Given the description of an element on the screen output the (x, y) to click on. 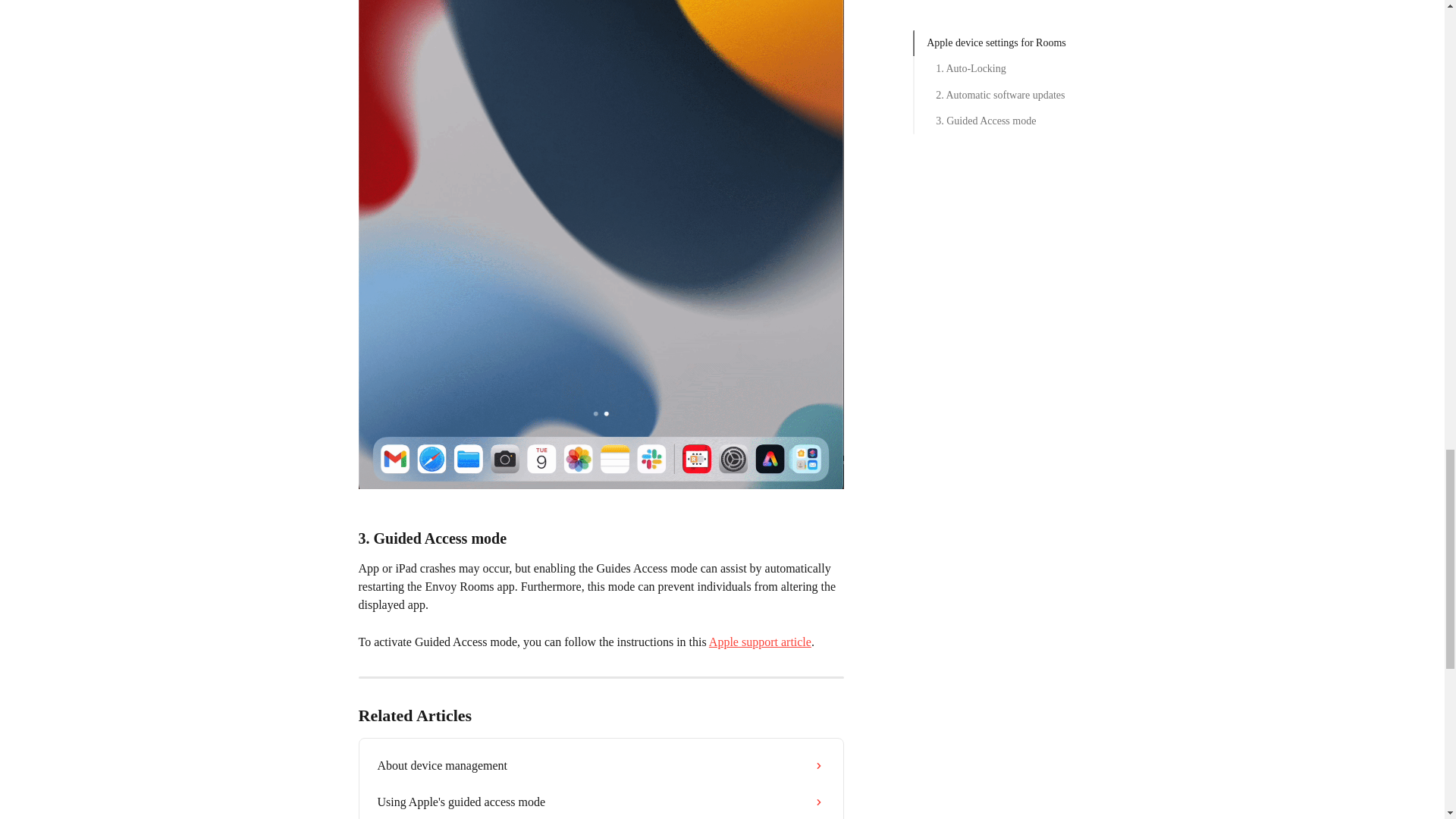
Using Apple's guided access mode (601, 801)
Apple support article (759, 641)
About device management (601, 765)
